Given the description of an element on the screen output the (x, y) to click on. 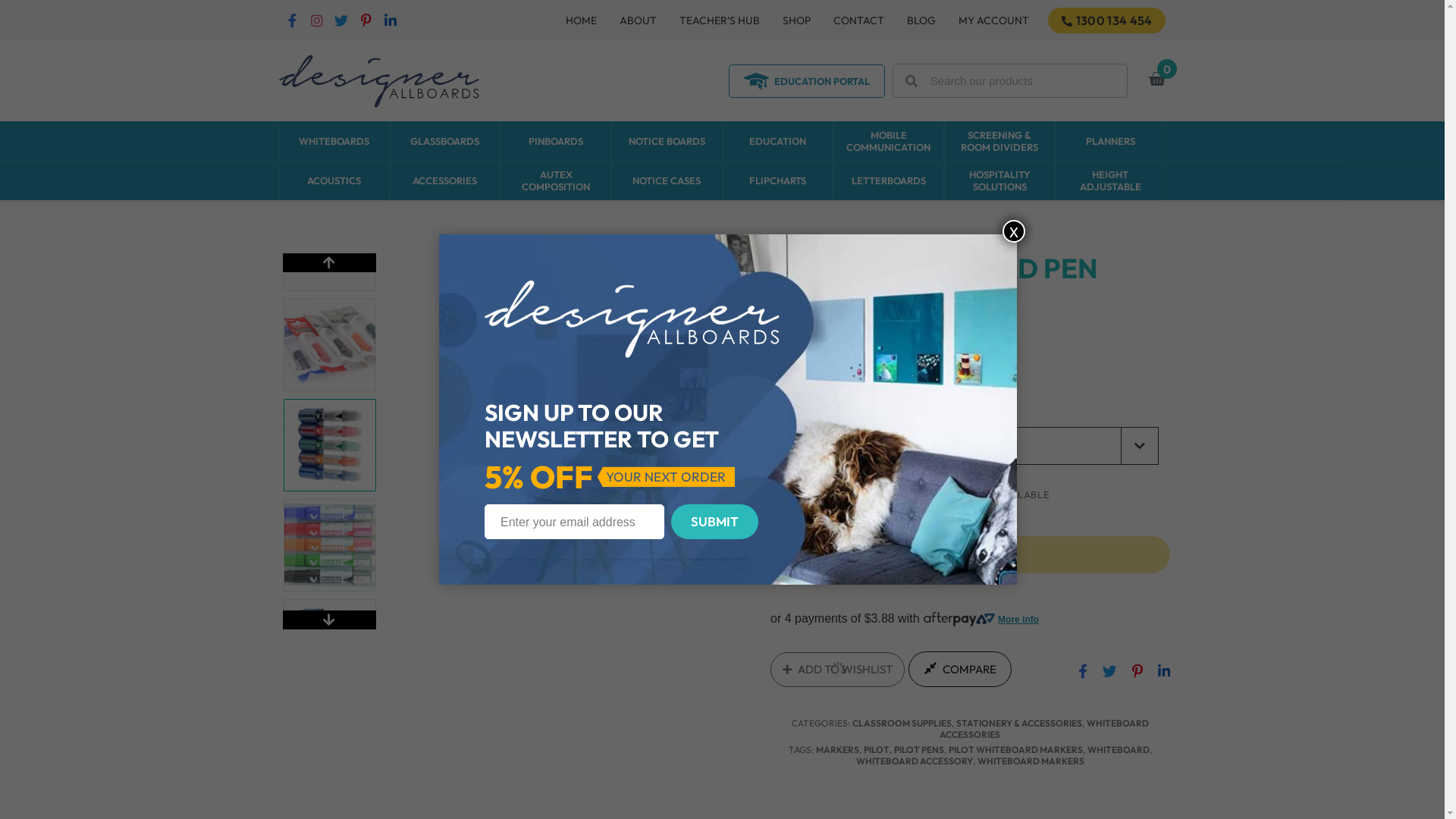
FLIPCHARTS Element type: text (776, 180)
SHOP Element type: text (796, 20)
ADD TO WISHLIST Element type: text (837, 669)
LETTERBOARDS Element type: text (888, 180)
MARKERS Element type: text (837, 749)
FOUND IT CHEAPER? Element type: text (855, 384)
BLOG Element type: text (921, 20)
Chat Element type: hover (1412, 778)
SCREENING & ROOM DIVIDERS Element type: text (999, 140)
PILOT Element type: text (876, 749)
WHITEBOARD Element type: text (1118, 749)
PILOT PENS Element type: text (919, 749)
Submit Element type: text (714, 521)
CLASSROOM SUPPLIES Element type: text (901, 722)
WHITEBOARD MARKERS Element type: text (1030, 760)
HOSPITALITY SOLUTIONS Element type: text (999, 180)
More info Element type: text (980, 619)
MY ACCOUNT Element type: text (993, 20)
WHITEBOARD ACCESSORIES Element type: text (1043, 728)
AUTEX COMPOSITION Element type: text (555, 180)
HOME Element type: text (581, 20)
ACCESSORIES Element type: text (444, 180)
STATIONERY & ACCESSORIES Element type: text (1019, 722)
WHITEBOARDS Element type: text (334, 140)
1300 134 454 Element type: text (1107, 20)
EDUCATION PORTAL Element type: text (806, 80)
x Element type: text (1013, 230)
GLASSBOARDS Element type: text (444, 140)
PILOT WHITEBOARD MARKERS Element type: text (1015, 749)
CONTACT Element type: text (858, 20)
ADD TO CART Element type: text (970, 554)
MOBILE COMMUNICATION Element type: text (888, 140)
EDUCATION Element type: text (776, 140)
0 Element type: text (1155, 78)
HEIGHT ADJUSTABLE Element type: text (1109, 180)
ACOUSTICS Element type: text (334, 180)
ABOUT Element type: text (638, 20)
NOTICE CASES Element type: text (666, 180)
COMPARE Element type: text (959, 669)
PLANNERS Element type: text (1109, 140)
PINBOARDS Element type: text (555, 140)
NOTICE BOARDS Element type: text (666, 140)
WHITEBOARD ACCESSORY Element type: text (914, 760)
